Given the description of an element on the screen output the (x, y) to click on. 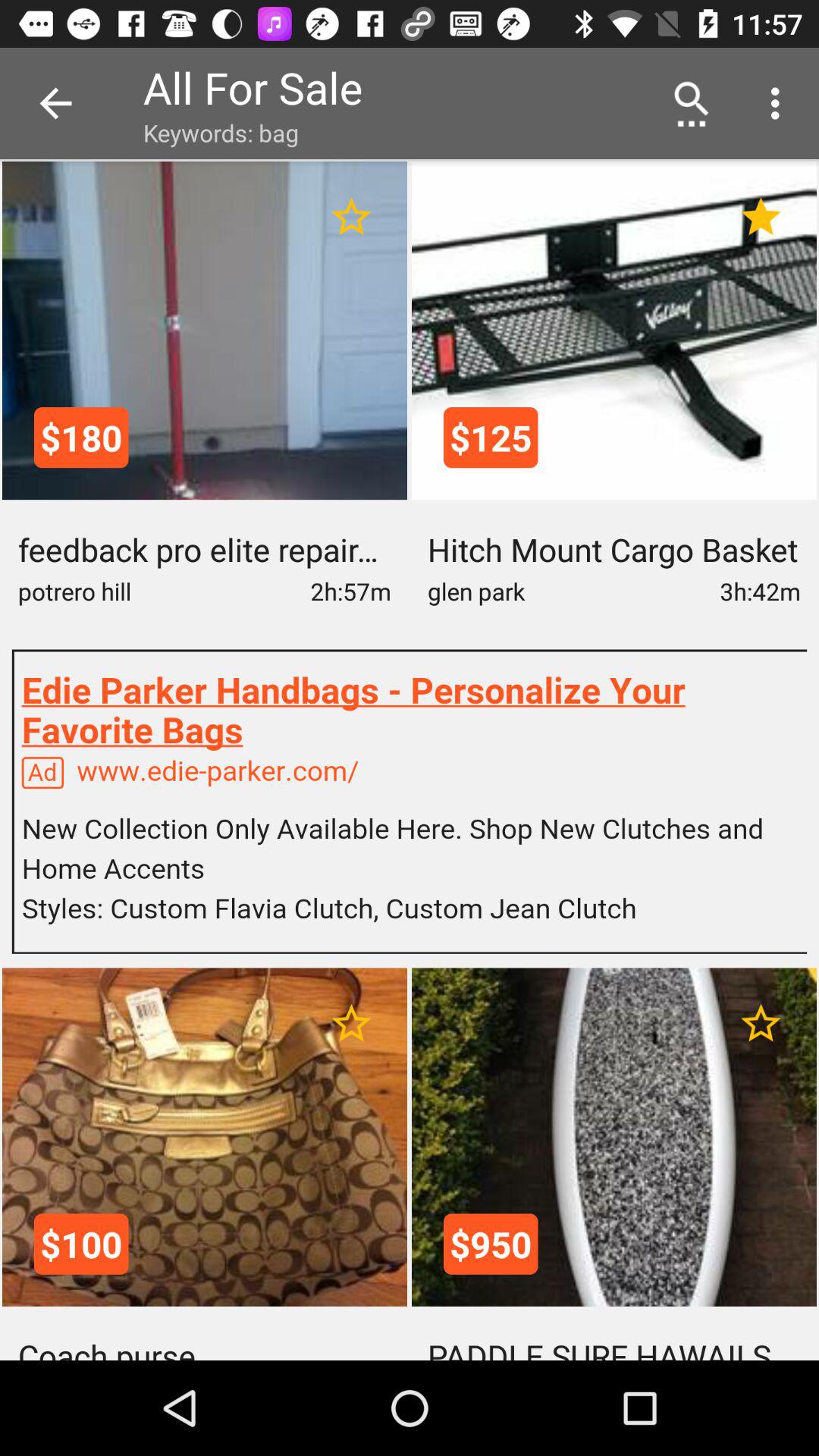
click on the first image (204, 330)
click on the image containing 125 (613, 330)
click on the star symbol in the first pic from left (351, 217)
